Given the description of an element on the screen output the (x, y) to click on. 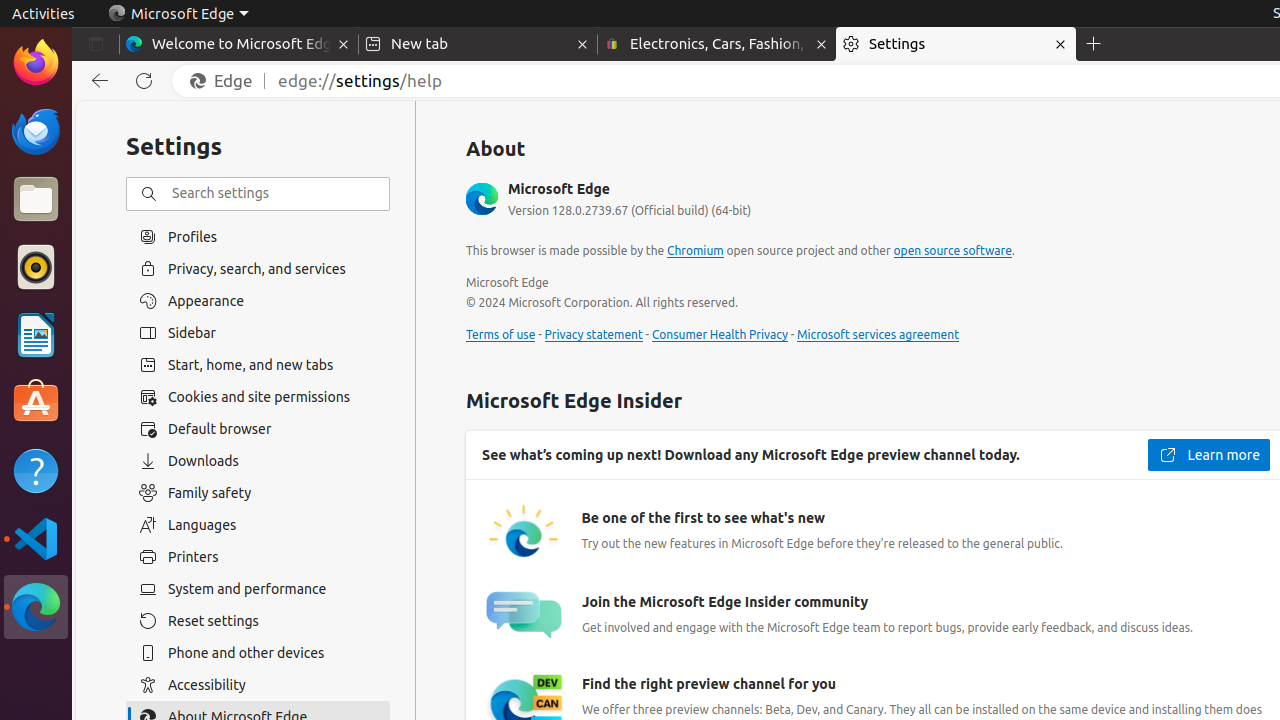
open source software Element type: link (952, 251)
Default browser Element type: tree-item (258, 429)
Chromium Element type: link (695, 251)
Microsoft Edge Element type: push-button (36, 607)
System and performance Element type: tree-item (258, 589)
